Given the description of an element on the screen output the (x, y) to click on. 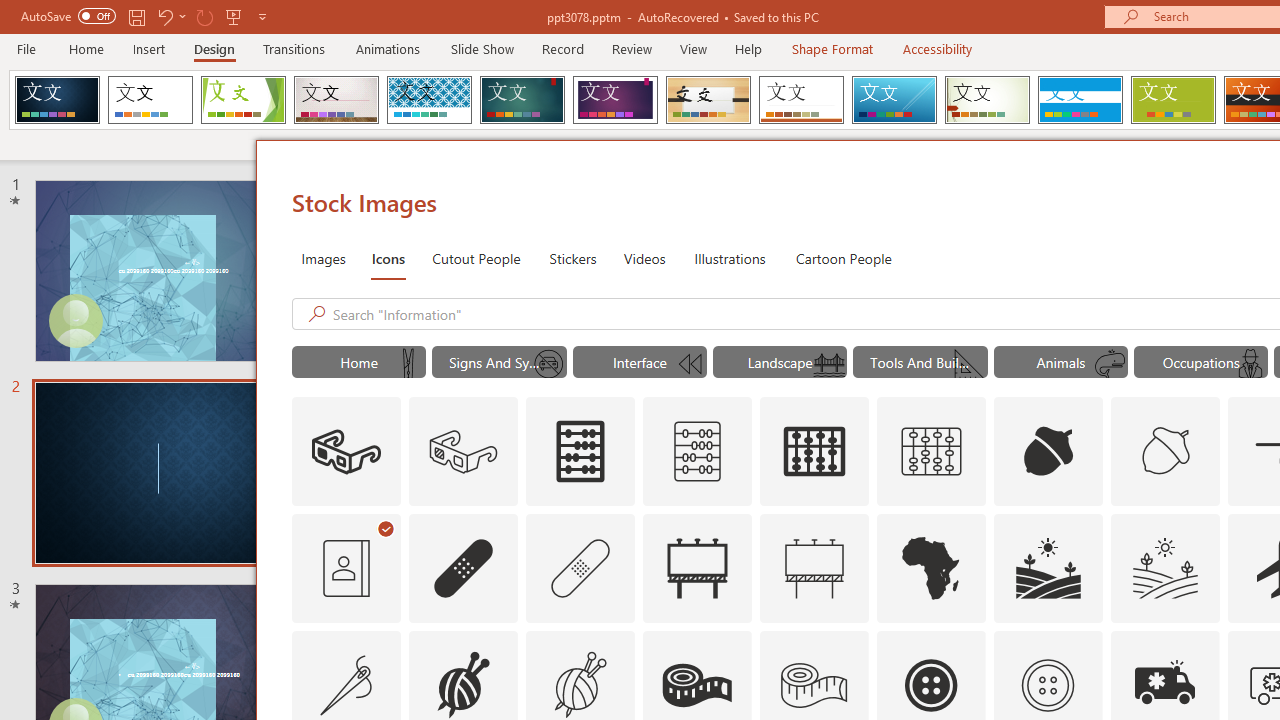
AutomationID: Icons_Peg_M (408, 364)
Retrospect (801, 100)
Integral (429, 100)
Images (322, 258)
Icons (388, 258)
AutomationID: Icons_Abacus1 (815, 452)
AutomationID: Icons_NoDriving_M (549, 364)
"Interface" Icons. (639, 362)
"Landscape" Icons. (779, 362)
